Given the description of an element on the screen output the (x, y) to click on. 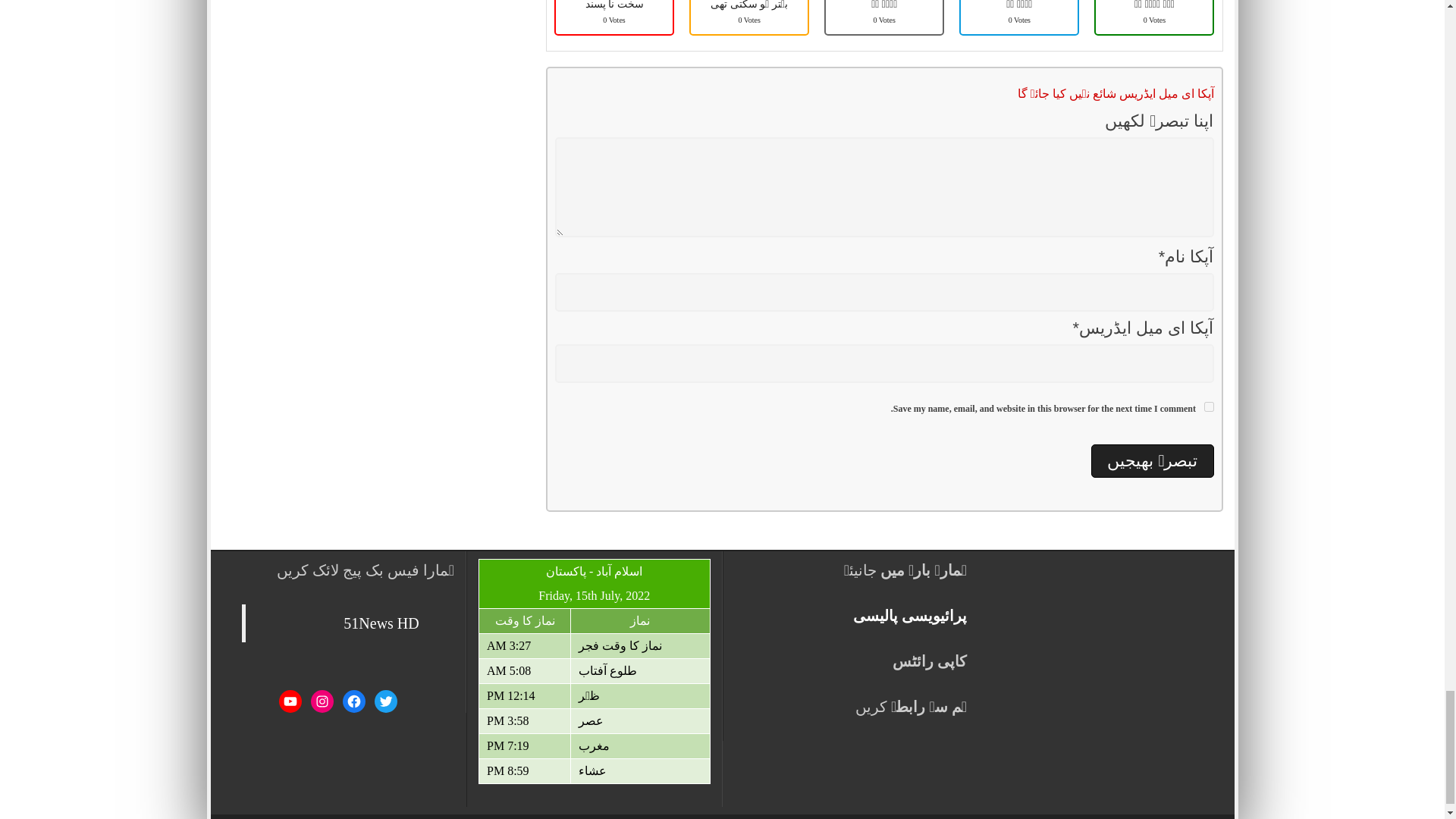
yes (1209, 406)
